Given the description of an element on the screen output the (x, y) to click on. 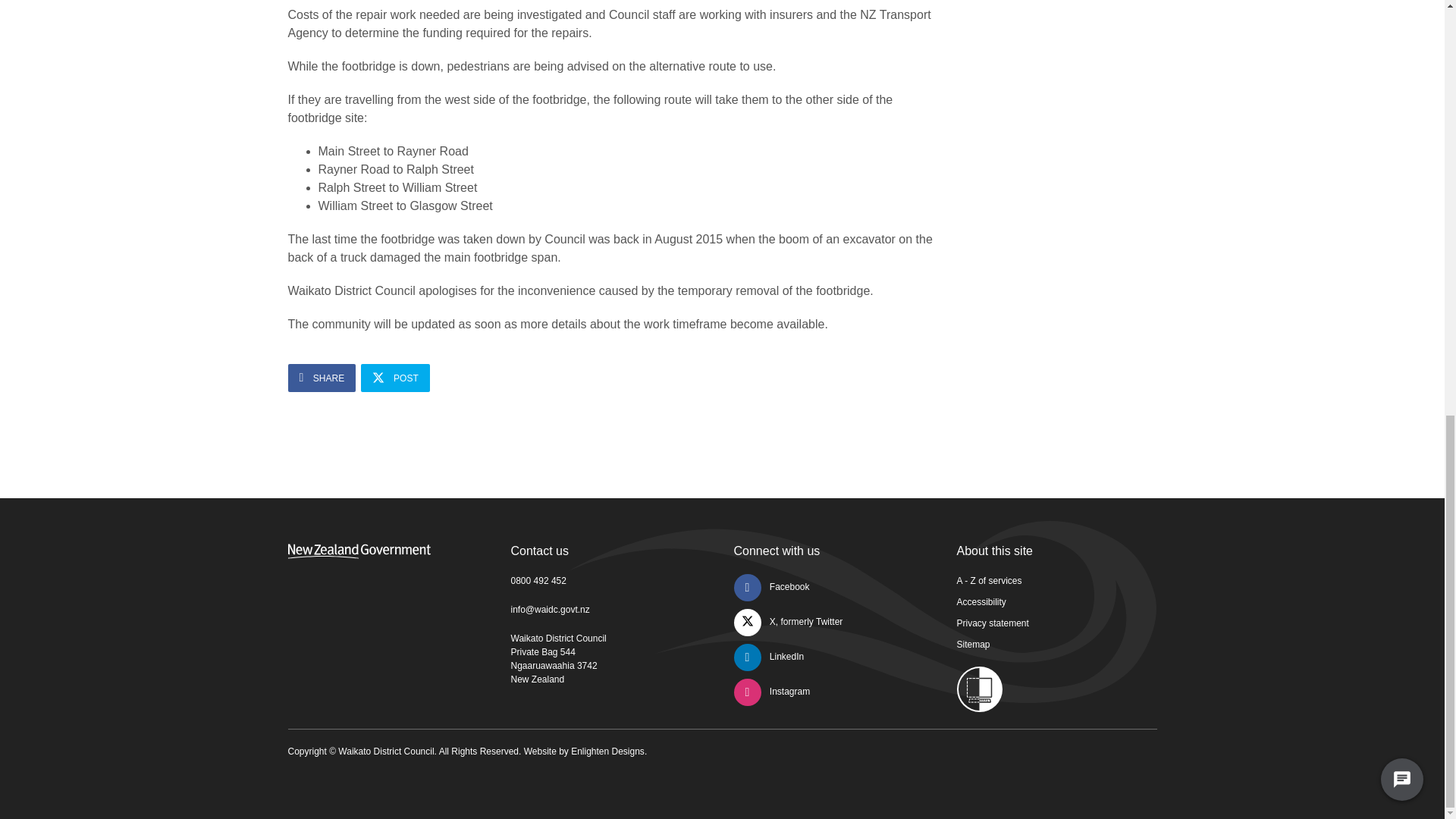
Facebook (771, 586)
New Zealand Government (359, 550)
Accessibility (981, 602)
Contact us (540, 550)
Instagram (771, 691)
0800 492 452 (538, 580)
X, formerly Twitter (788, 621)
Sitemap (973, 644)
POST (395, 377)
About this site (994, 550)
SHARE (322, 377)
LinkedIn (769, 656)
A - Z of services (989, 580)
Privacy statement (992, 623)
